Given the description of an element on the screen output the (x, y) to click on. 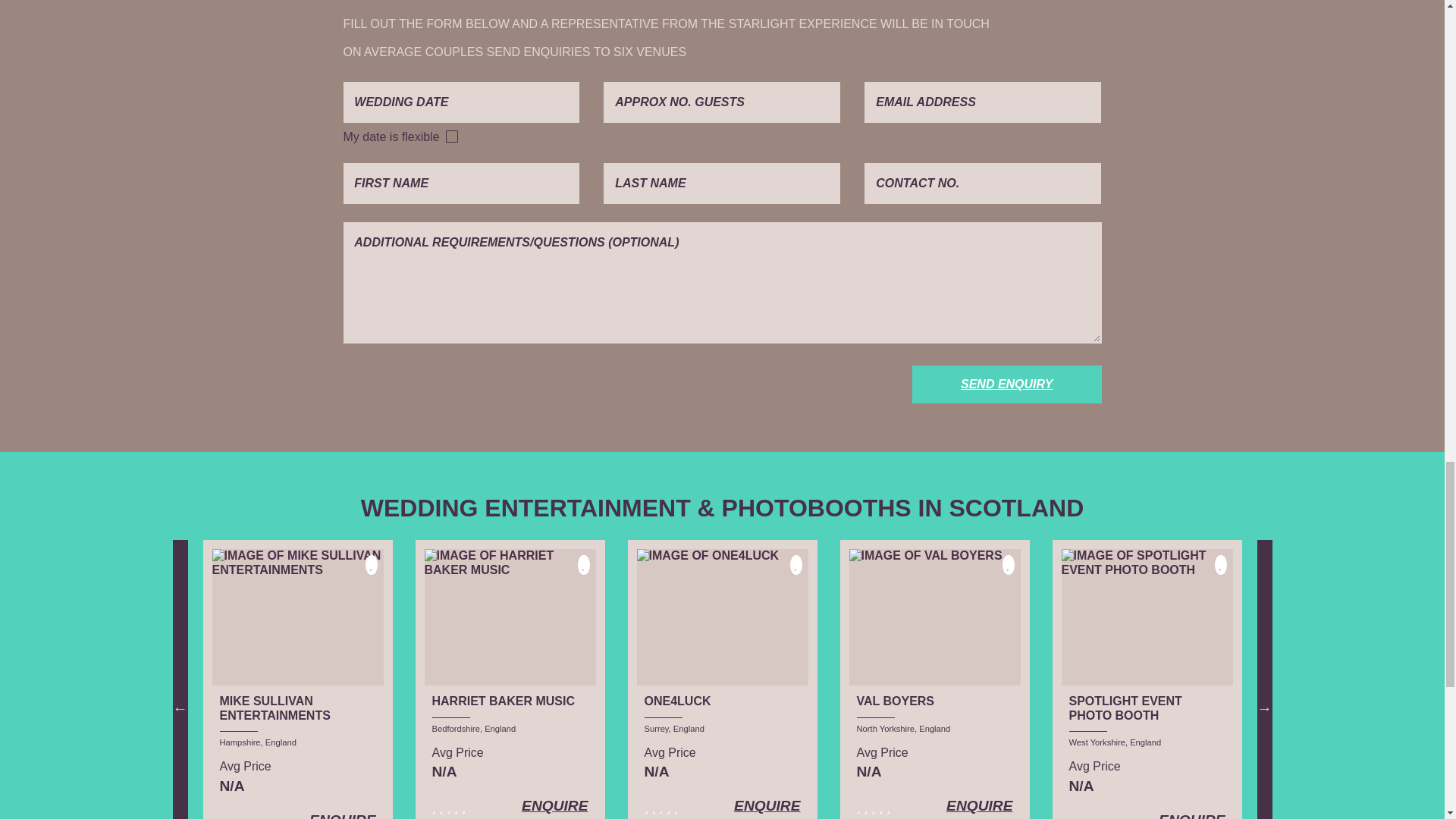
on (451, 136)
